Given the description of an element on the screen output the (x, y) to click on. 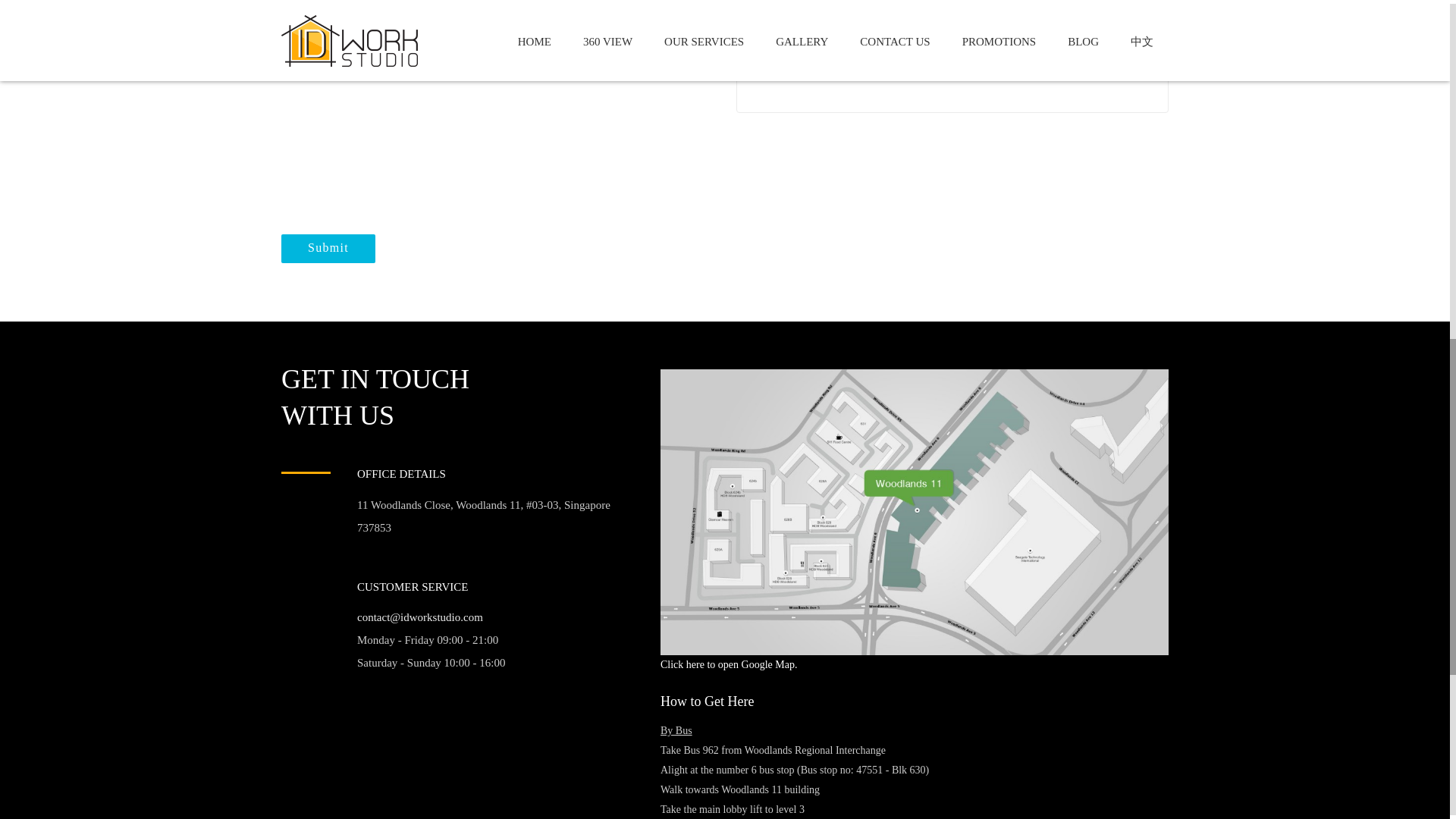
Submit (328, 248)
Submit (328, 248)
Click here to open Google Map. (728, 664)
